Given the description of an element on the screen output the (x, y) to click on. 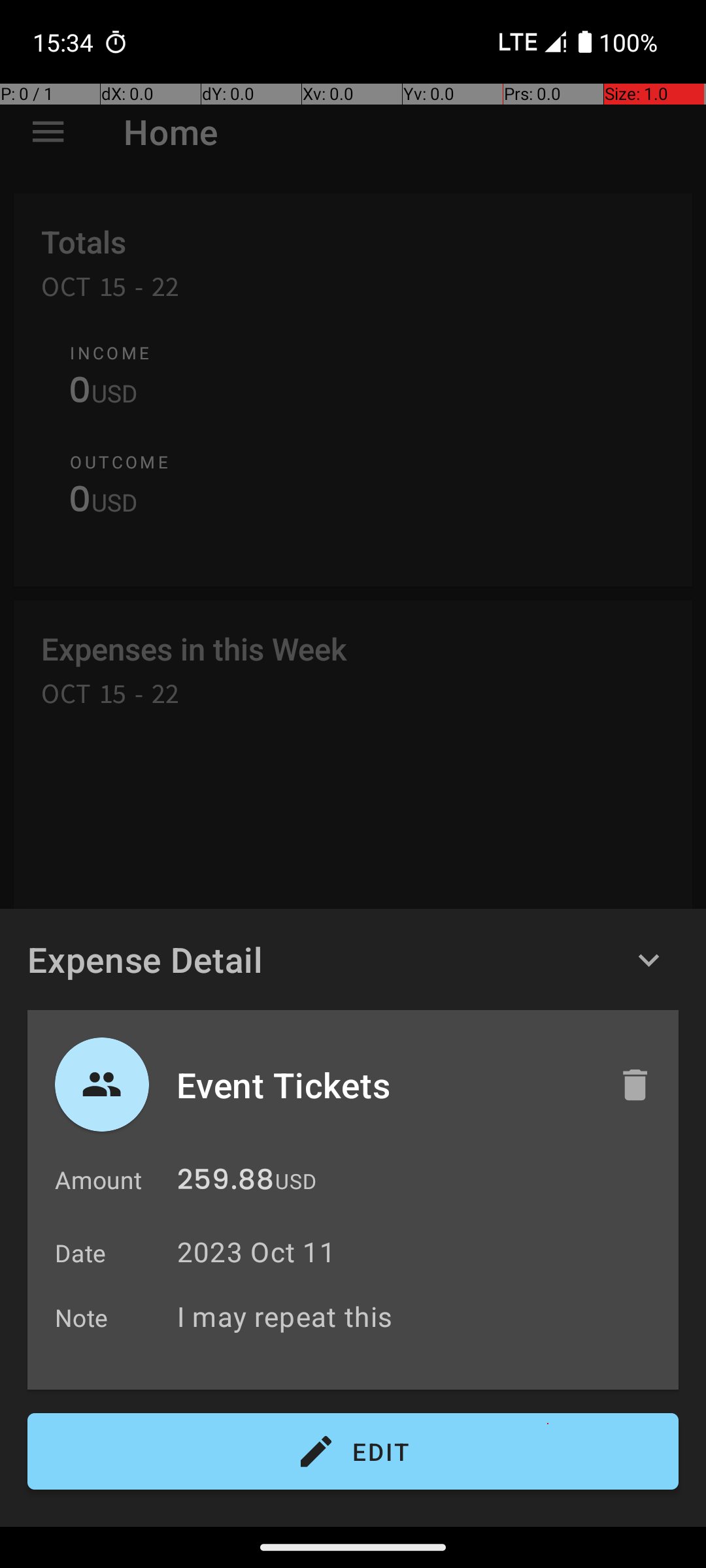
259.88 Element type: android.widget.TextView (225, 1182)
